Given the description of an element on the screen output the (x, y) to click on. 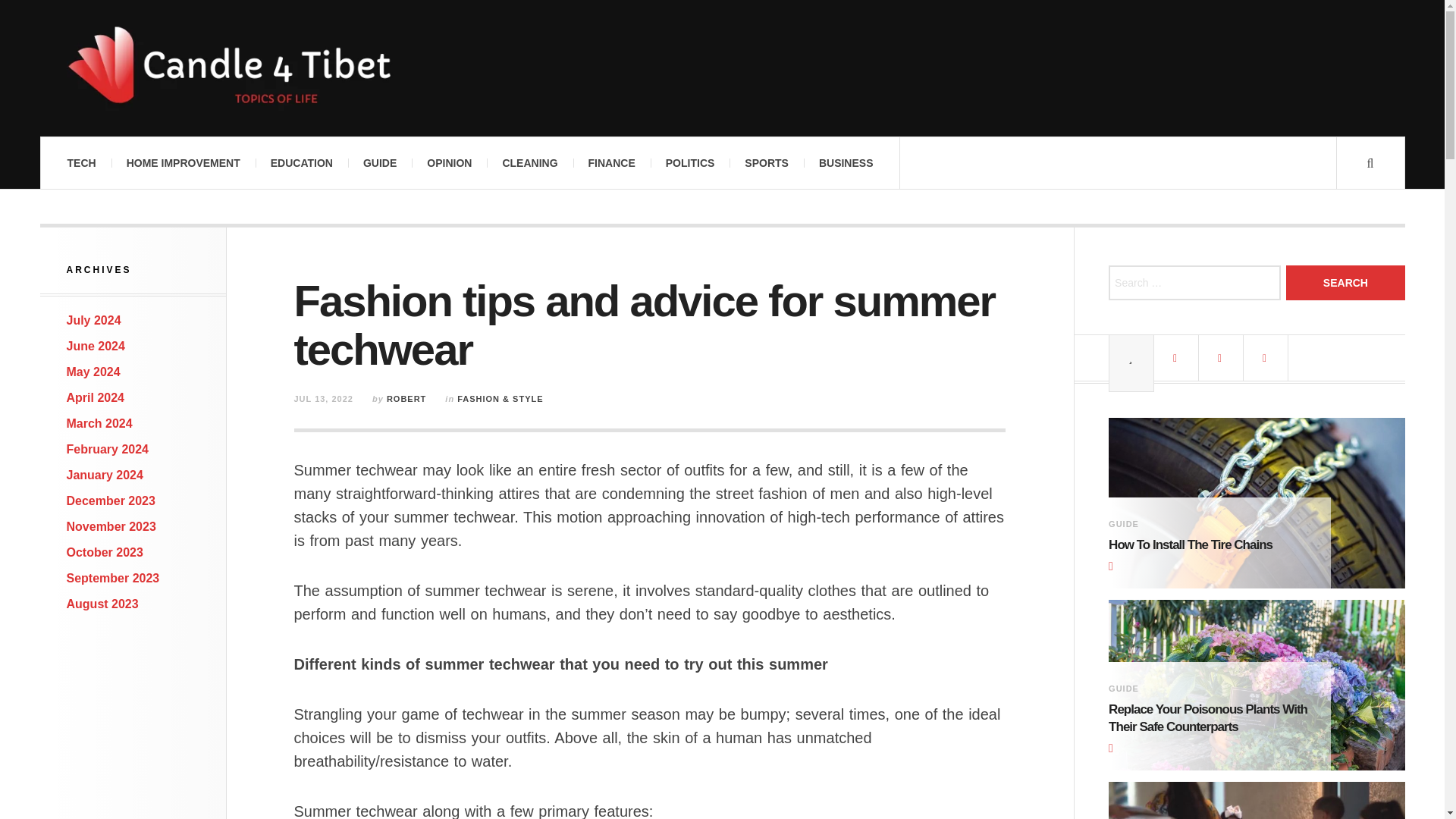
June 2024 (95, 345)
Search (1345, 282)
October 2023 (104, 552)
Search (1345, 282)
POLITICS (690, 163)
ROBERT (406, 398)
December 2023 (110, 500)
July 2024 (93, 319)
April 2024 (94, 397)
OPINION (449, 163)
September 2023 (113, 577)
HOME IMPROVEMENT (184, 163)
November 2023 (110, 526)
August 2023 (102, 603)
FINANCE (611, 163)
